Given the description of an element on the screen output the (x, y) to click on. 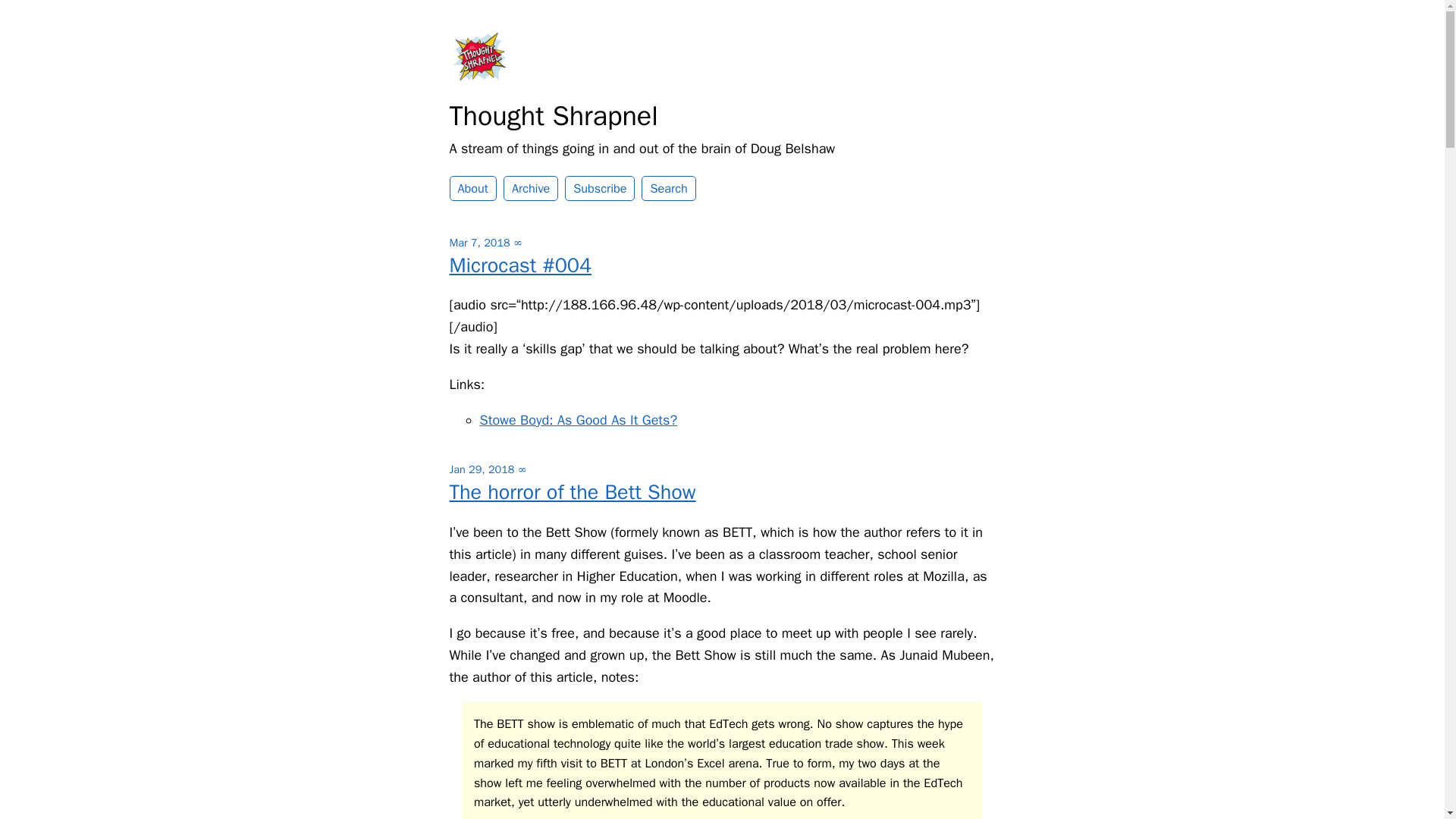
Archive (530, 188)
About (472, 188)
